Given the description of an element on the screen output the (x, y) to click on. 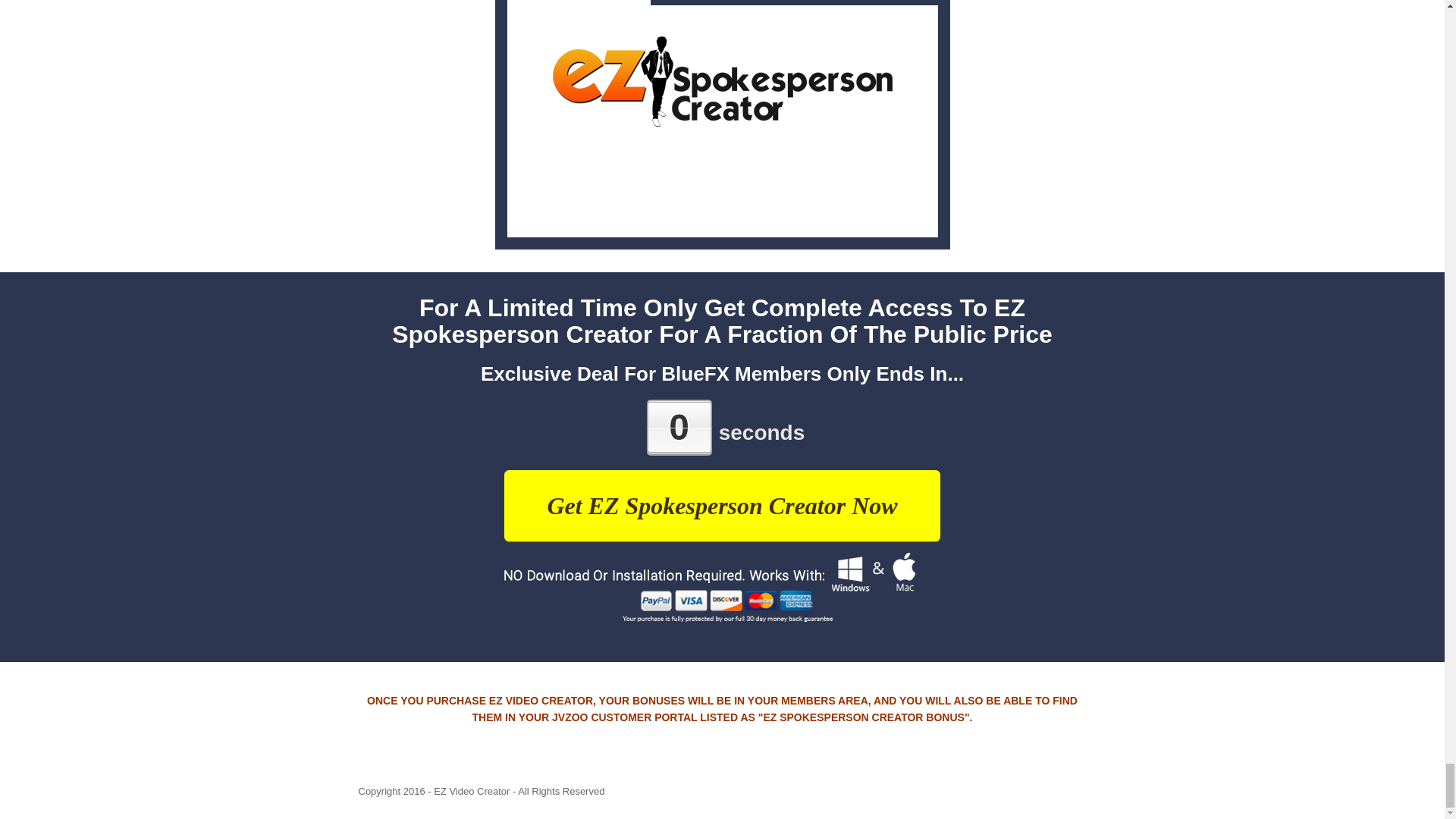
Get EZ Spokesperson Creator Now (721, 505)
